Given the description of an element on the screen output the (x, y) to click on. 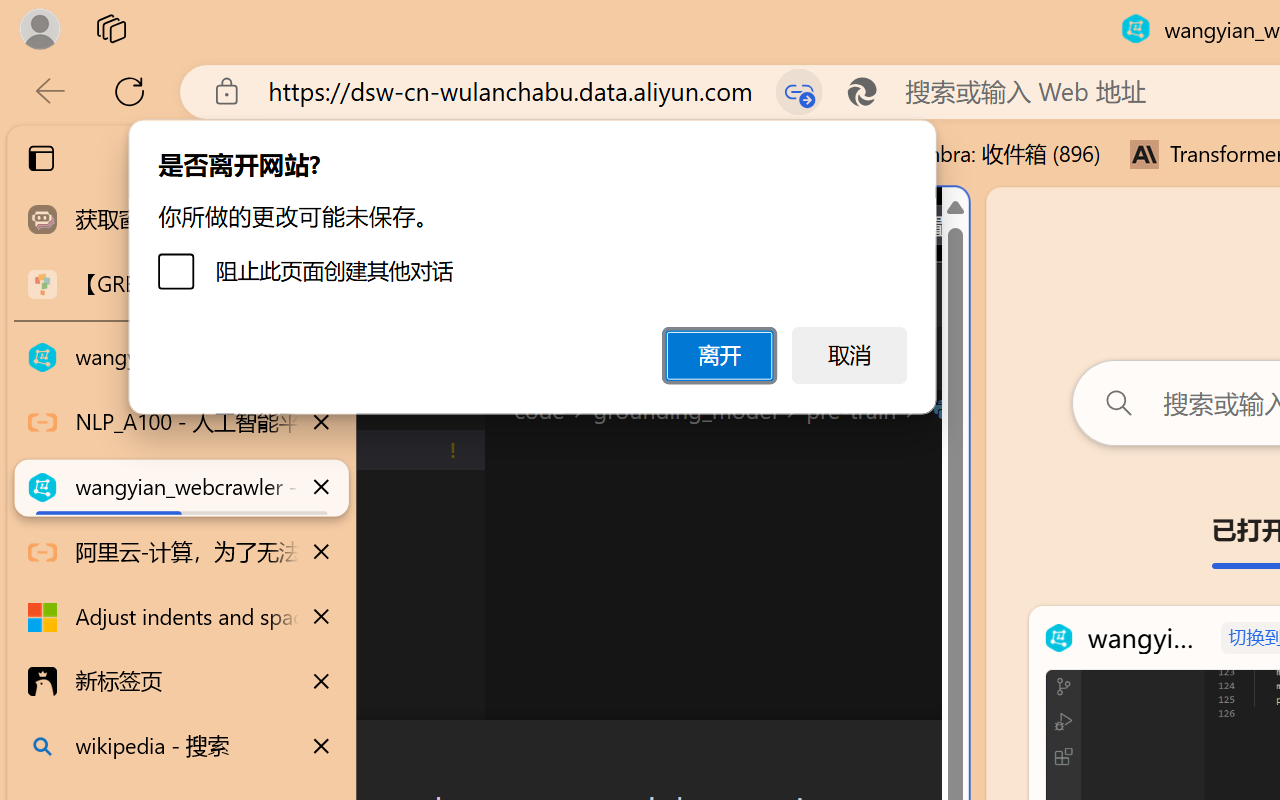
Class: actions-container (529, 756)
Run and Debug (Ctrl+Shift+D) (135, 692)
Adjust indents and spacing - Microsoft Support (181, 617)
Close Dialog (959, 756)
